Given the description of an element on the screen output the (x, y) to click on. 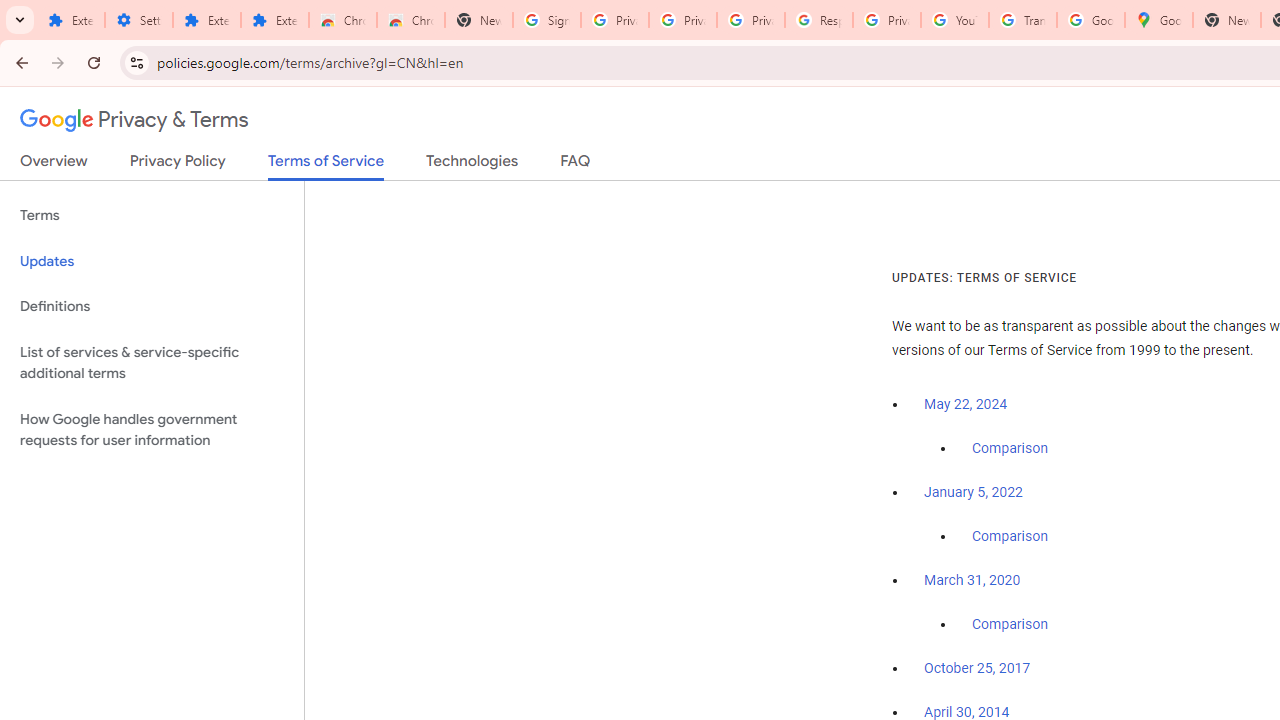
YouTube (954, 20)
New Tab (479, 20)
Chrome Web Store - Themes (411, 20)
